Given the description of an element on the screen output the (x, y) to click on. 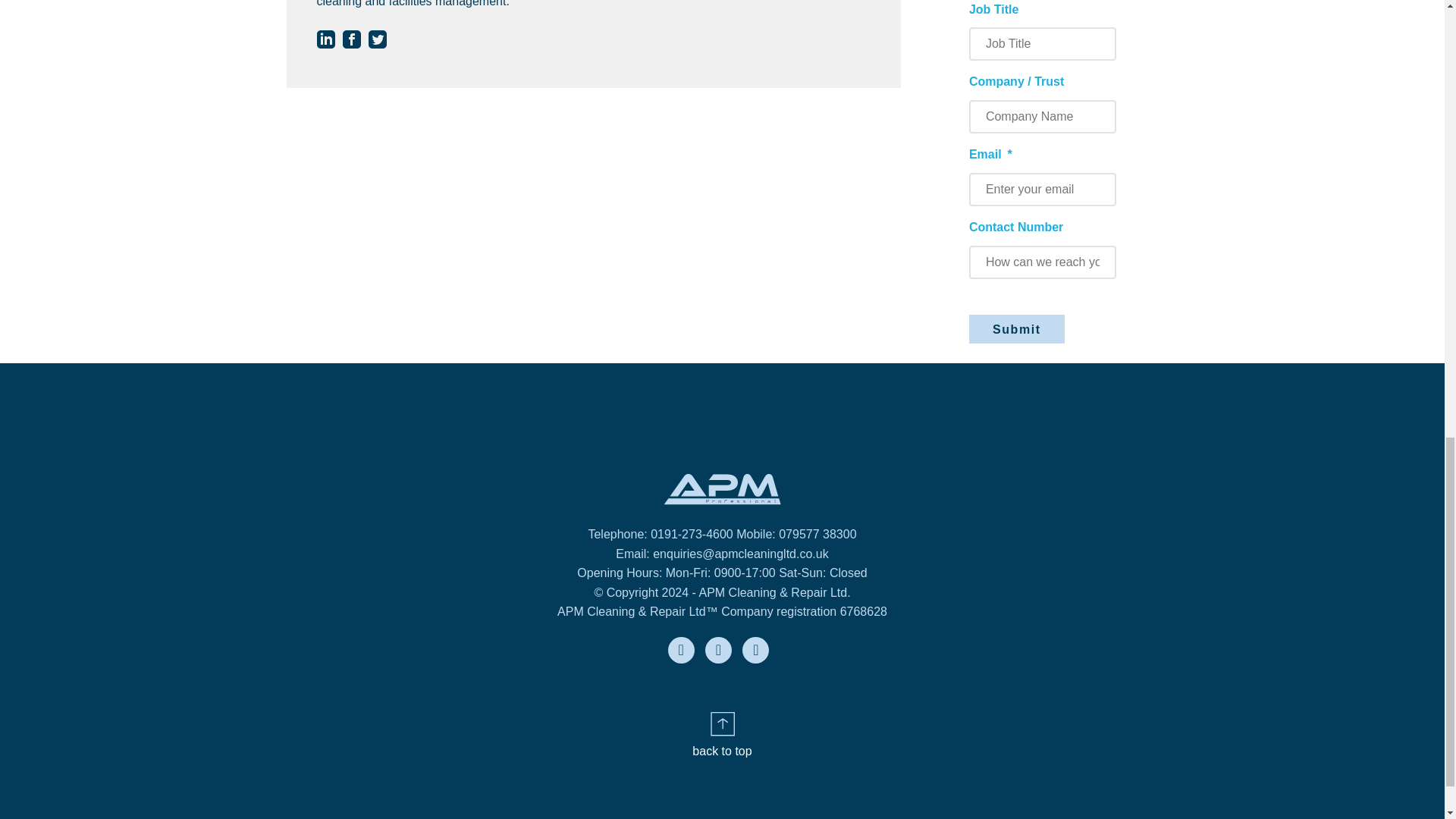
Submit (1016, 328)
